Given the description of an element on the screen output the (x, y) to click on. 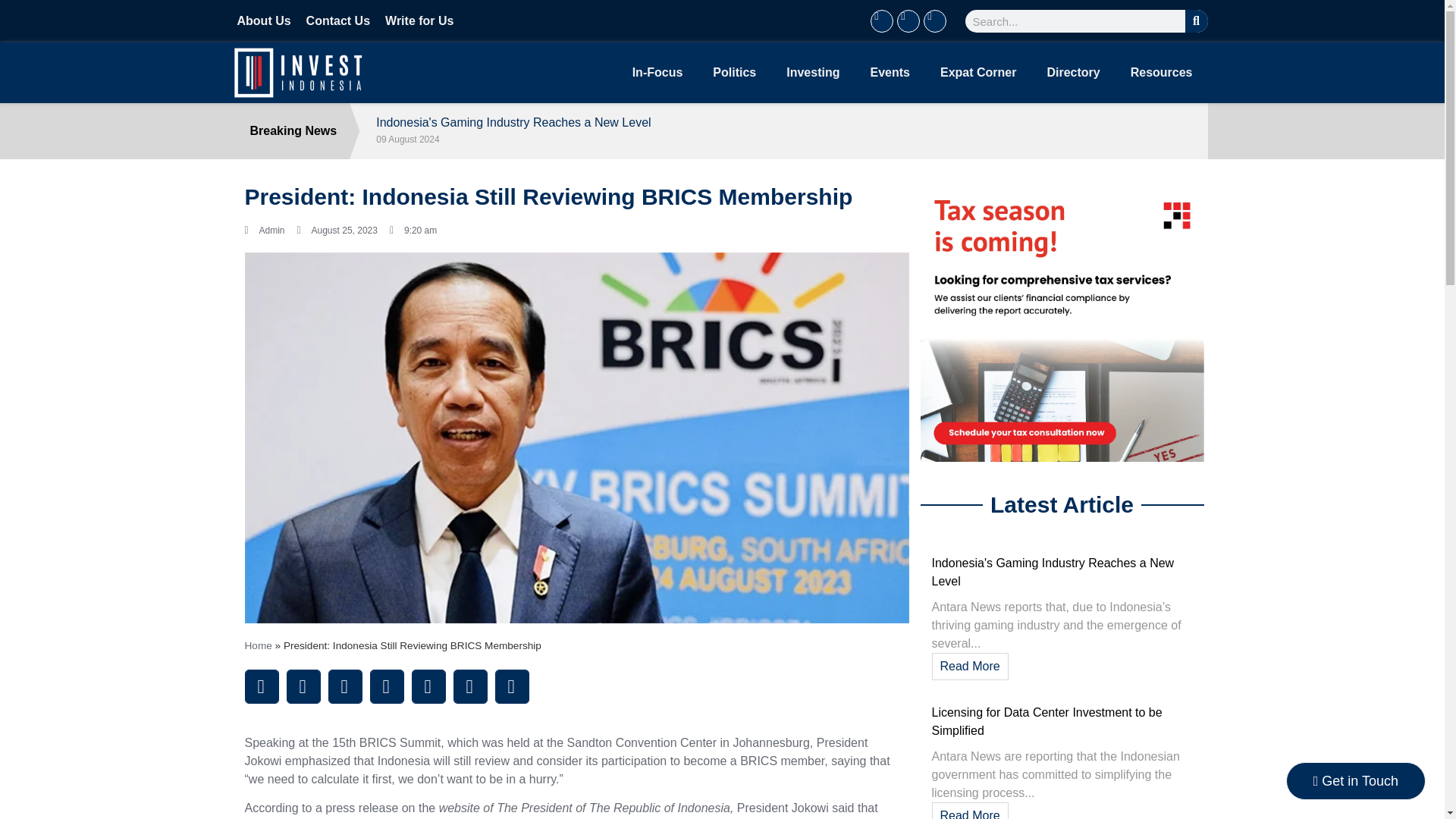
Expat Corner (977, 72)
Contact Us (337, 21)
Directory (1072, 72)
Indonesia's Gaming Industry Reaches a New Level (1052, 572)
Indonesia's Gaming Industry Reaches a New Level (785, 122)
In-Focus (657, 72)
Politics (734, 72)
Investing (812, 72)
About Us (262, 21)
Resources (1161, 72)
